Given the description of an element on the screen output the (x, y) to click on. 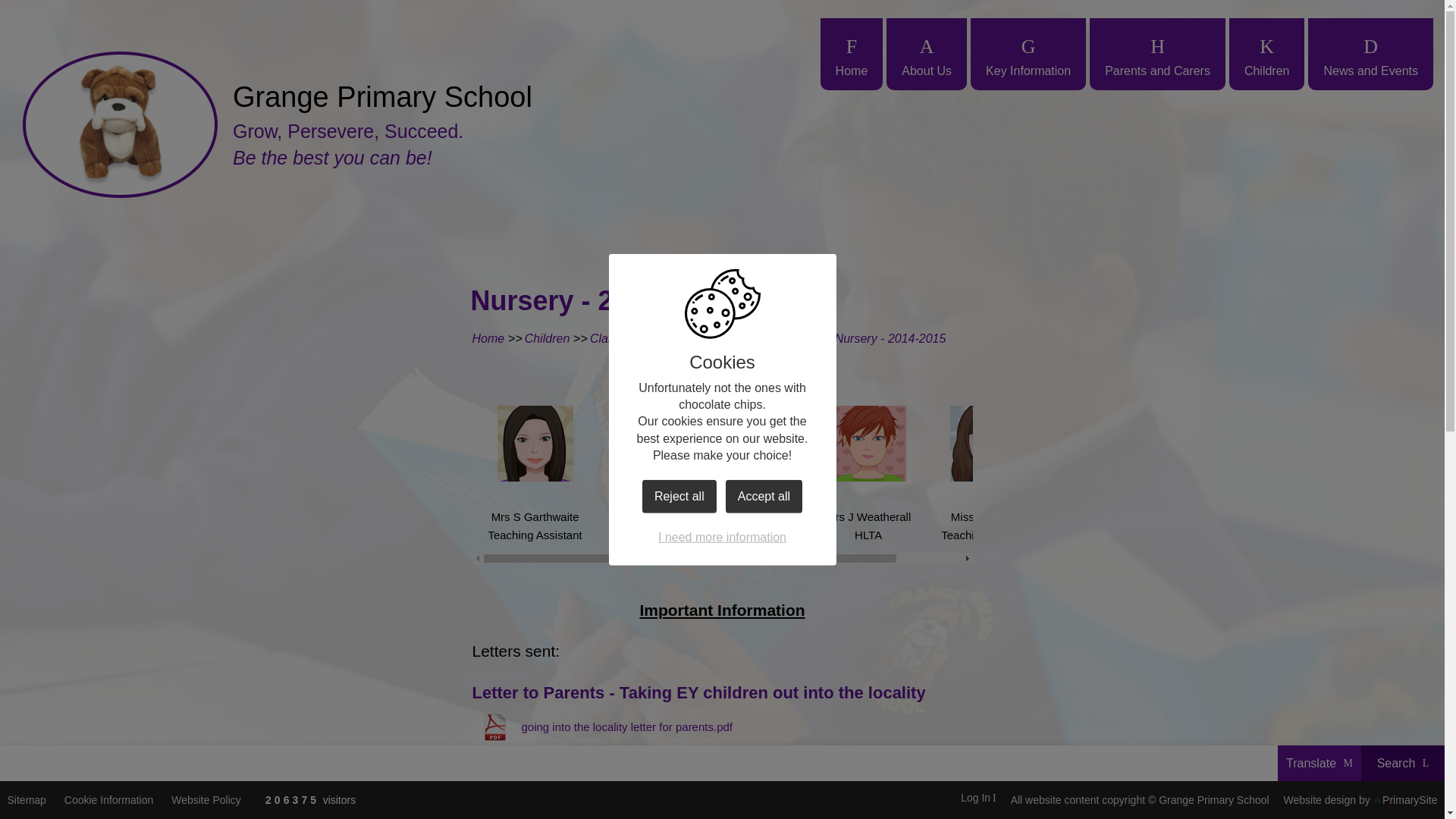
Key Information (1028, 54)
Home Page (119, 124)
About Us (926, 54)
